Given the description of an element on the screen output the (x, y) to click on. 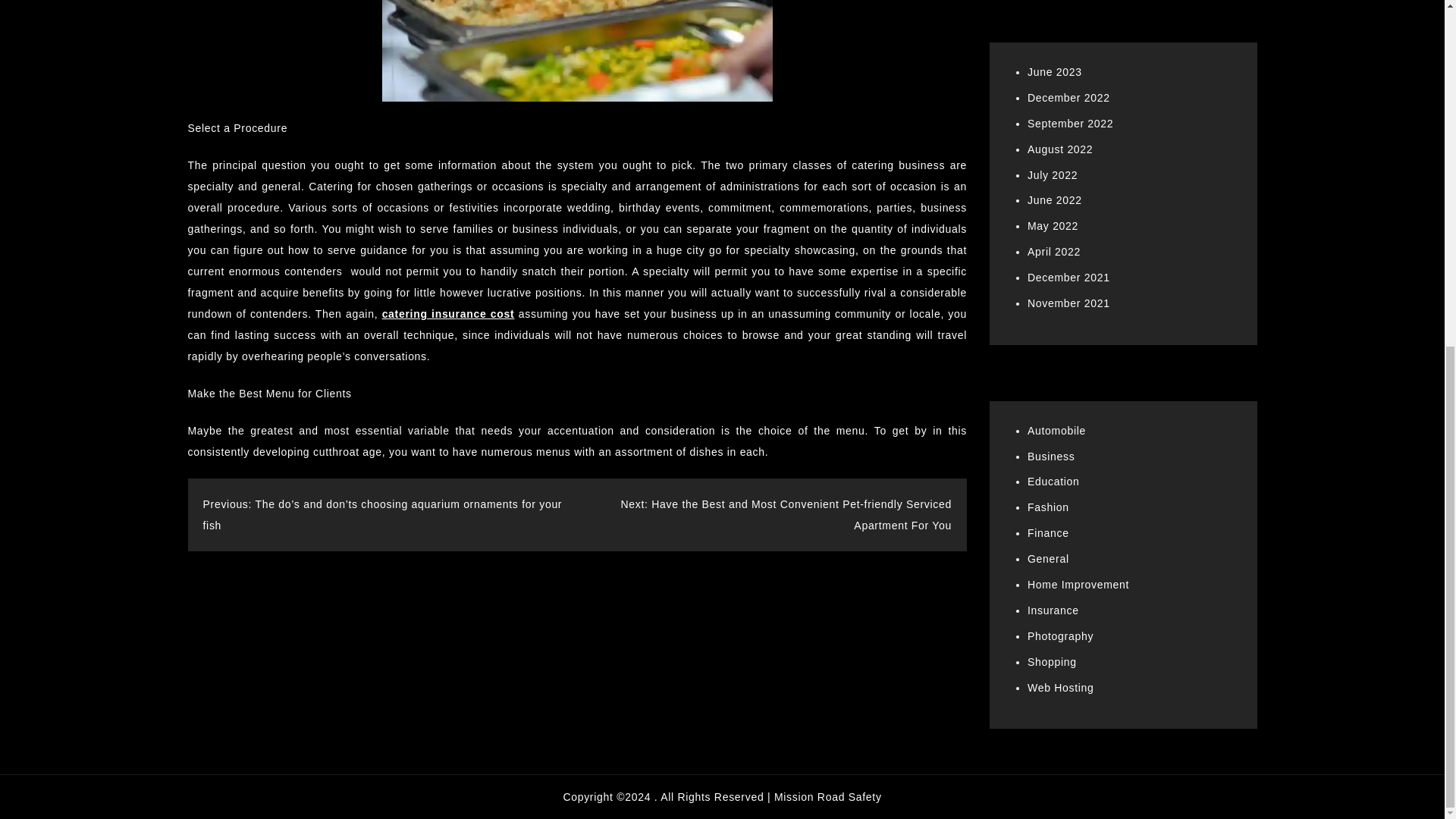
December 2021 (1068, 277)
Photography (1060, 635)
Automobile (1056, 430)
Education (1053, 481)
Fashion (1047, 507)
September 2022 (1070, 123)
May 2022 (1052, 225)
August 2022 (1060, 149)
General (1047, 558)
catering insurance cost (448, 313)
